Given the description of an element on the screen output the (x, y) to click on. 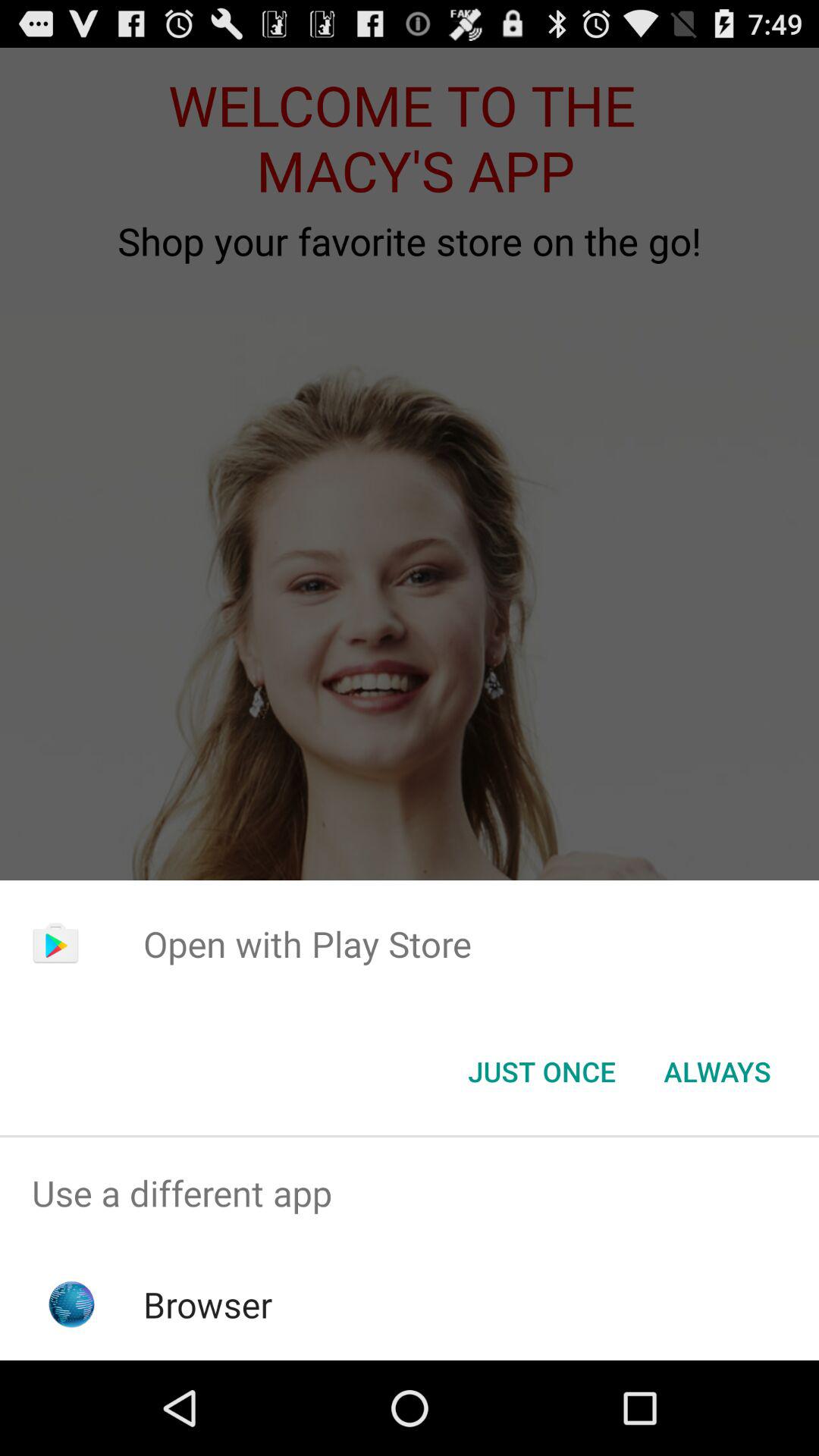
swipe until always (717, 1071)
